Given the description of an element on the screen output the (x, y) to click on. 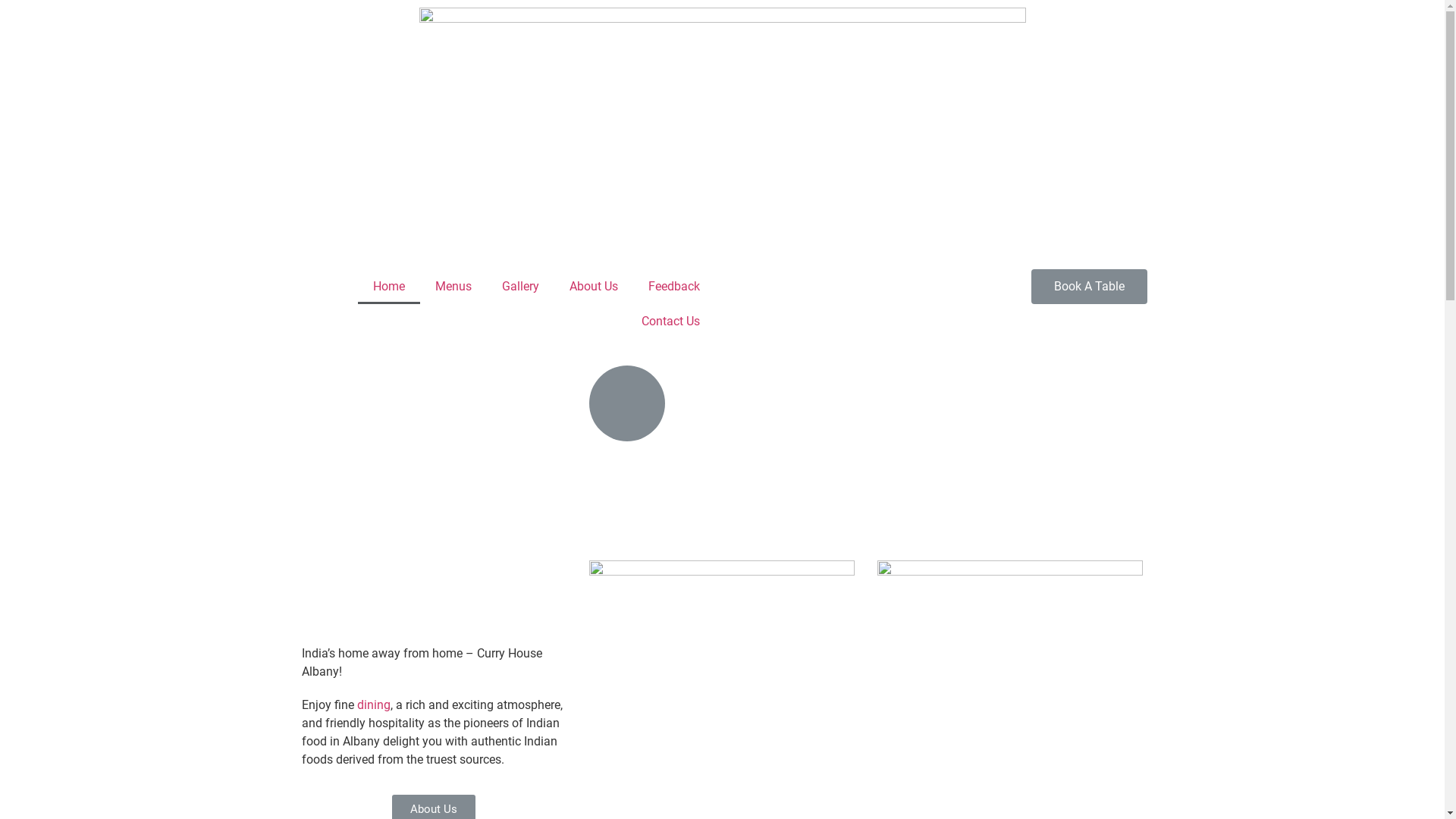
Home Element type: text (388, 286)
Contact Us Element type: text (670, 321)
Feedback Element type: text (673, 286)
Book A Table Element type: text (1089, 286)
dining Element type: text (372, 704)
Menus Element type: text (453, 286)
About Us Element type: text (592, 286)
Gallery Element type: text (520, 286)
